Given the description of an element on the screen output the (x, y) to click on. 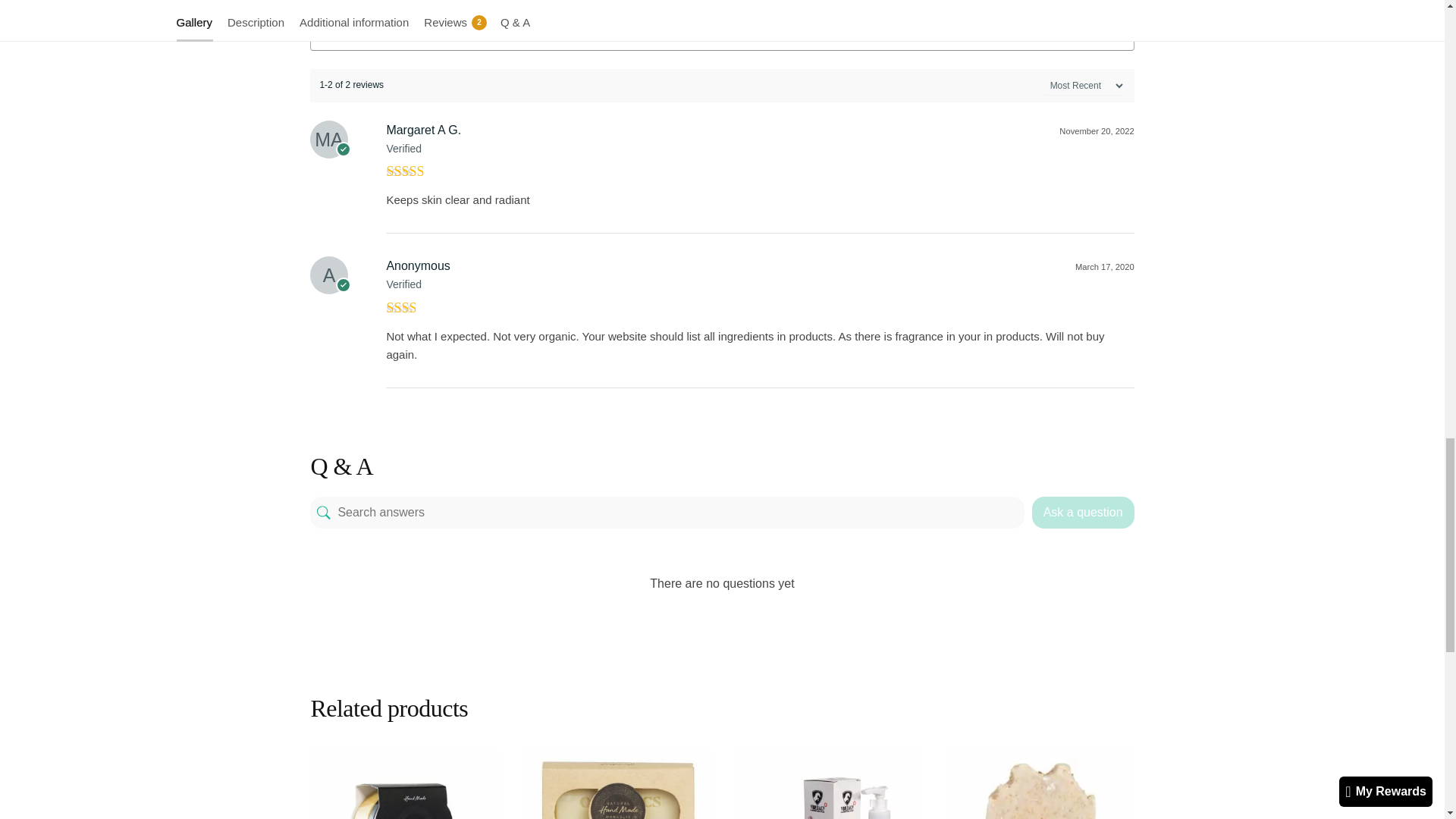
Health Solid Oil (828, 783)
Yak Milk Soap (615, 783)
Sea Buckthorn Oil Body Butter (404, 783)
